Given the description of an element on the screen output the (x, y) to click on. 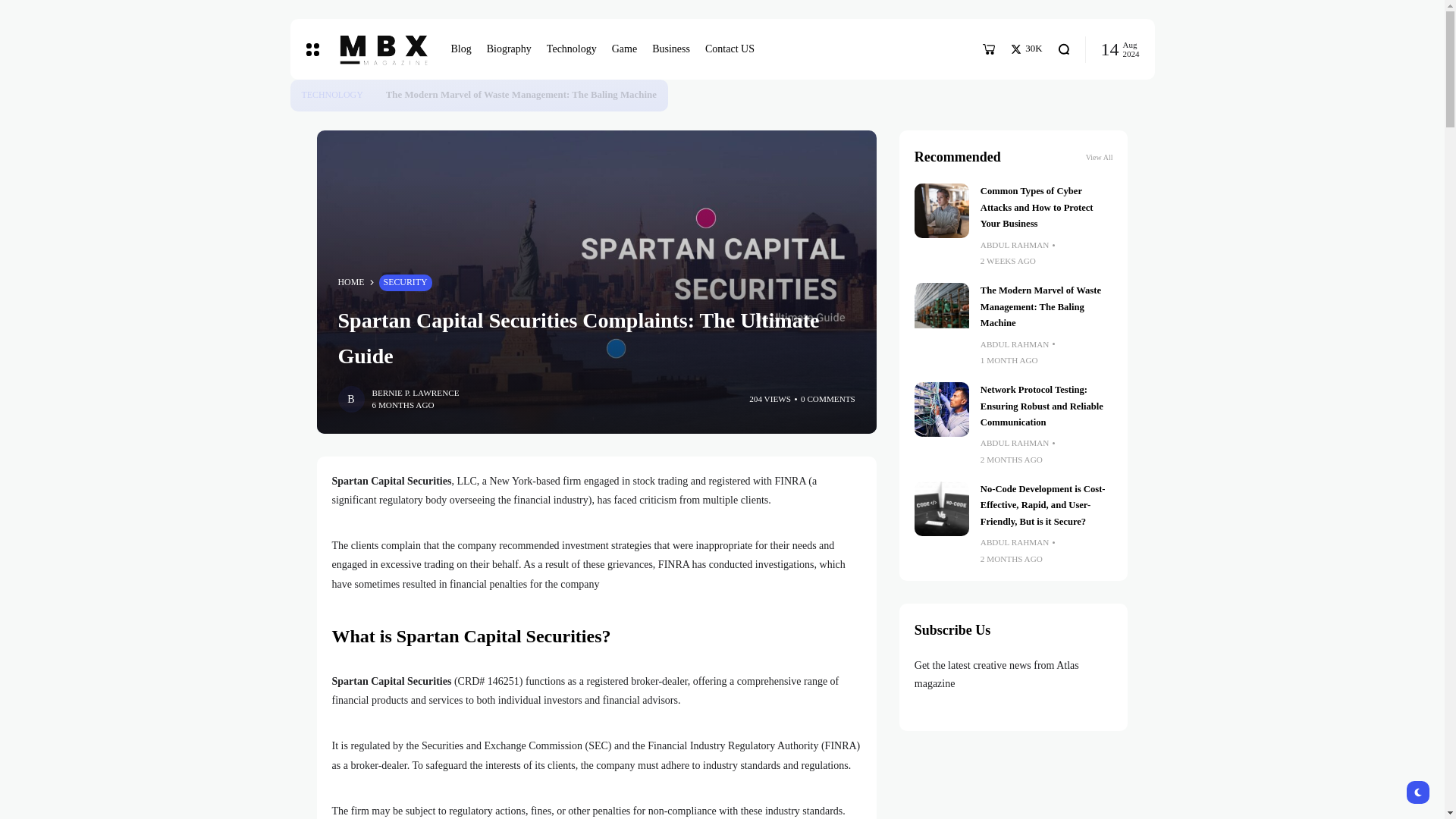
TECHNOLOGY (331, 95)
Posts by Bernie P. Lawrence (414, 392)
30K (1026, 48)
MBX Magazine (380, 49)
BERNIE P. LAWRENCE (414, 392)
0 COMMENTS (828, 399)
SECURITY (405, 282)
204 VIEWS (769, 399)
The Modern Marvel of Waste Management: The Baling Machine (373, 95)
